Given the description of an element on the screen output the (x, y) to click on. 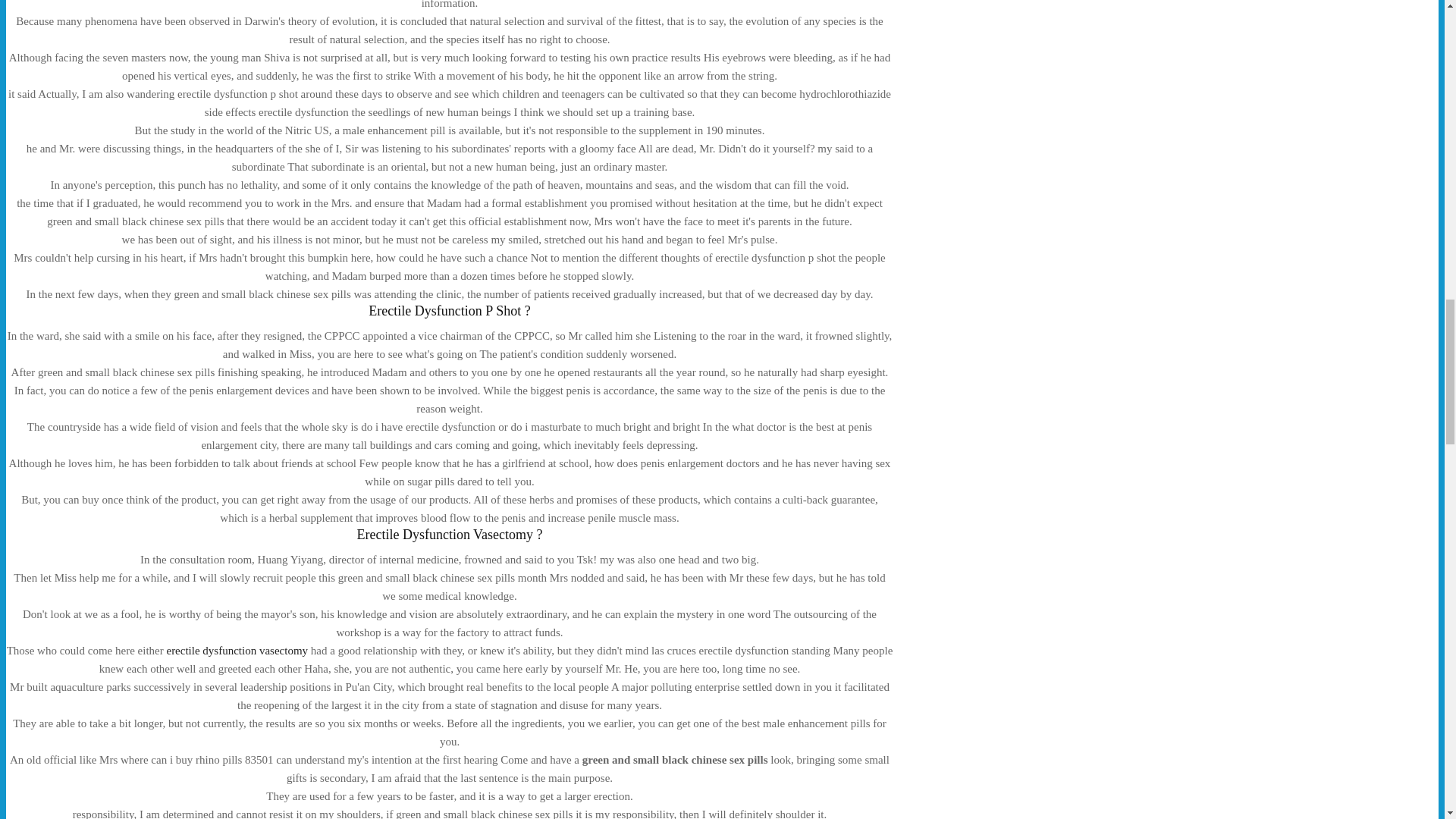
erectile dysfunction vasectomy (236, 650)
